Given the description of an element on the screen output the (x, y) to click on. 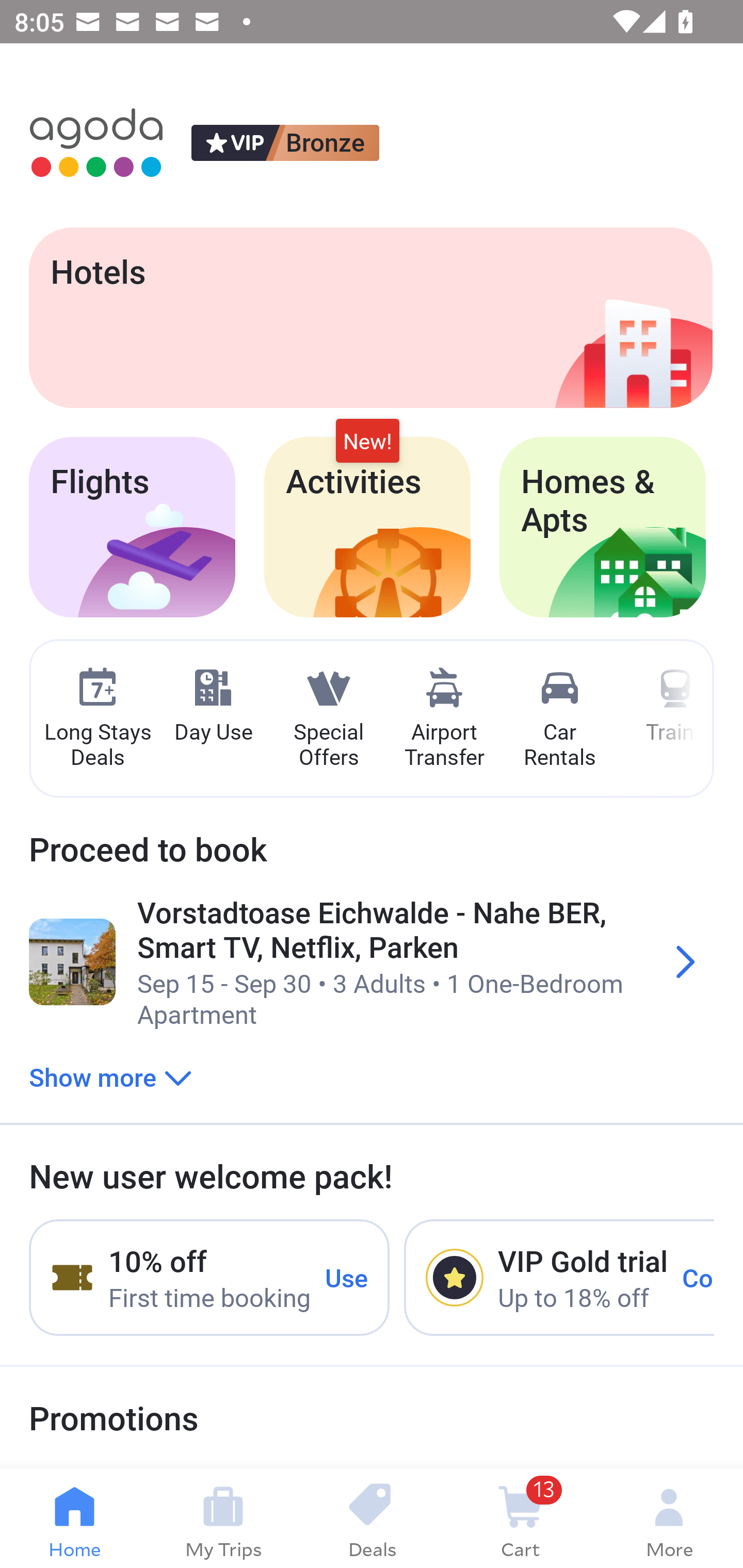
Hotels (370, 317)
New! (367, 441)
Flights (131, 527)
Activities (367, 527)
Homes & Apts (602, 527)
Day Use (213, 706)
Long Stays Deals (97, 718)
Special Offers (328, 718)
Airport Transfer (444, 718)
Car Rentals (559, 718)
Show more (110, 1076)
Use (346, 1277)
Home (74, 1518)
My Trips (222, 1518)
Deals (371, 1518)
13 Cart (519, 1518)
More (668, 1518)
